Given the description of an element on the screen output the (x, y) to click on. 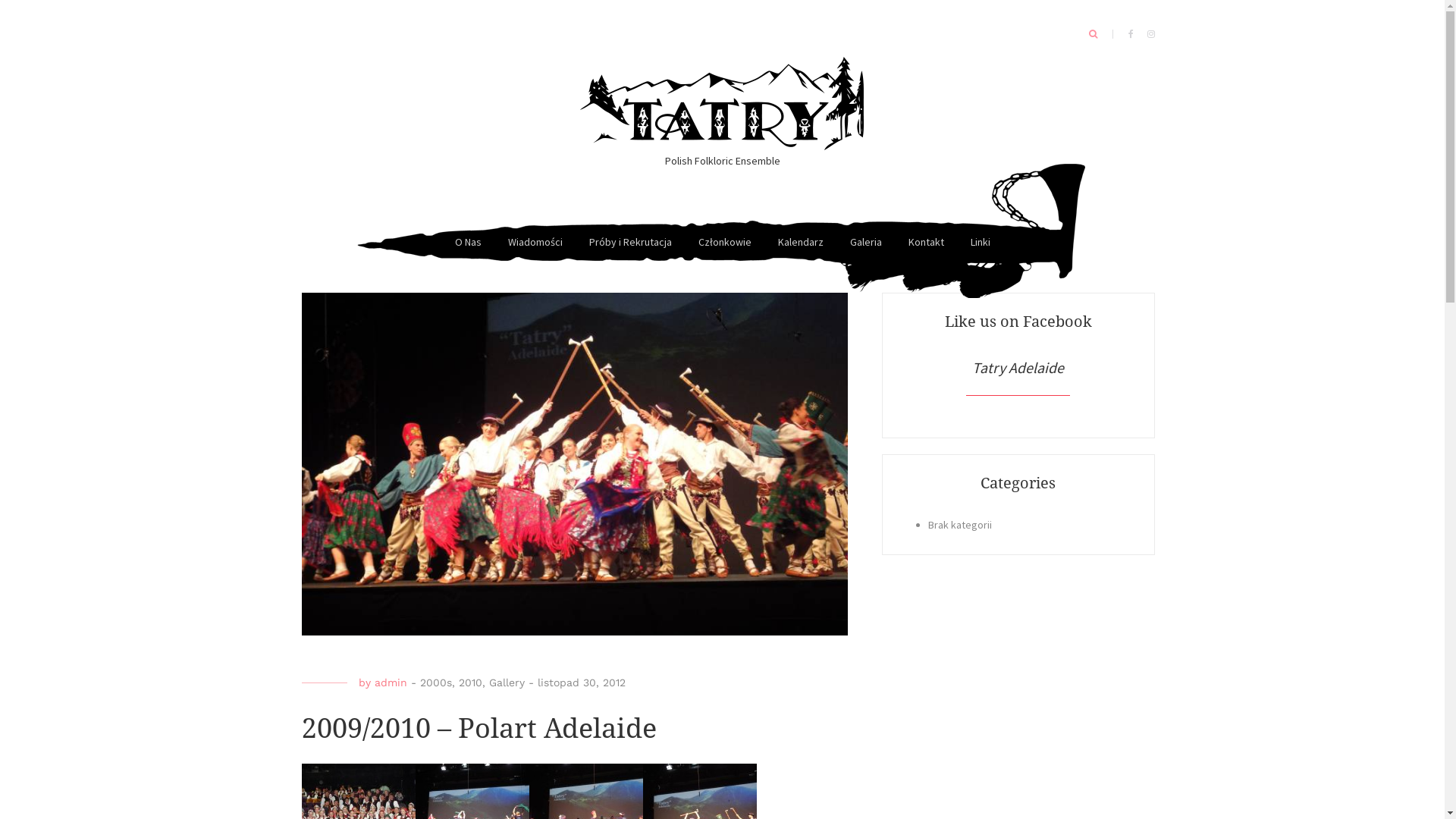
listopad 30, 2012 Element type: text (580, 682)
Kontakt Element type: text (926, 242)
Tatry Adelaide Element type: text (1017, 366)
O Nas Element type: text (468, 242)
Galeria Element type: text (865, 242)
admin Element type: text (390, 682)
 Tatry Adelaide Element type: hover (722, 103)
Gallery Element type: text (506, 682)
2010 Element type: text (469, 682)
2000s Element type: text (435, 682)
Kalendarz Element type: text (800, 242)
Linki Element type: text (980, 242)
